Given the description of an element on the screen output the (x, y) to click on. 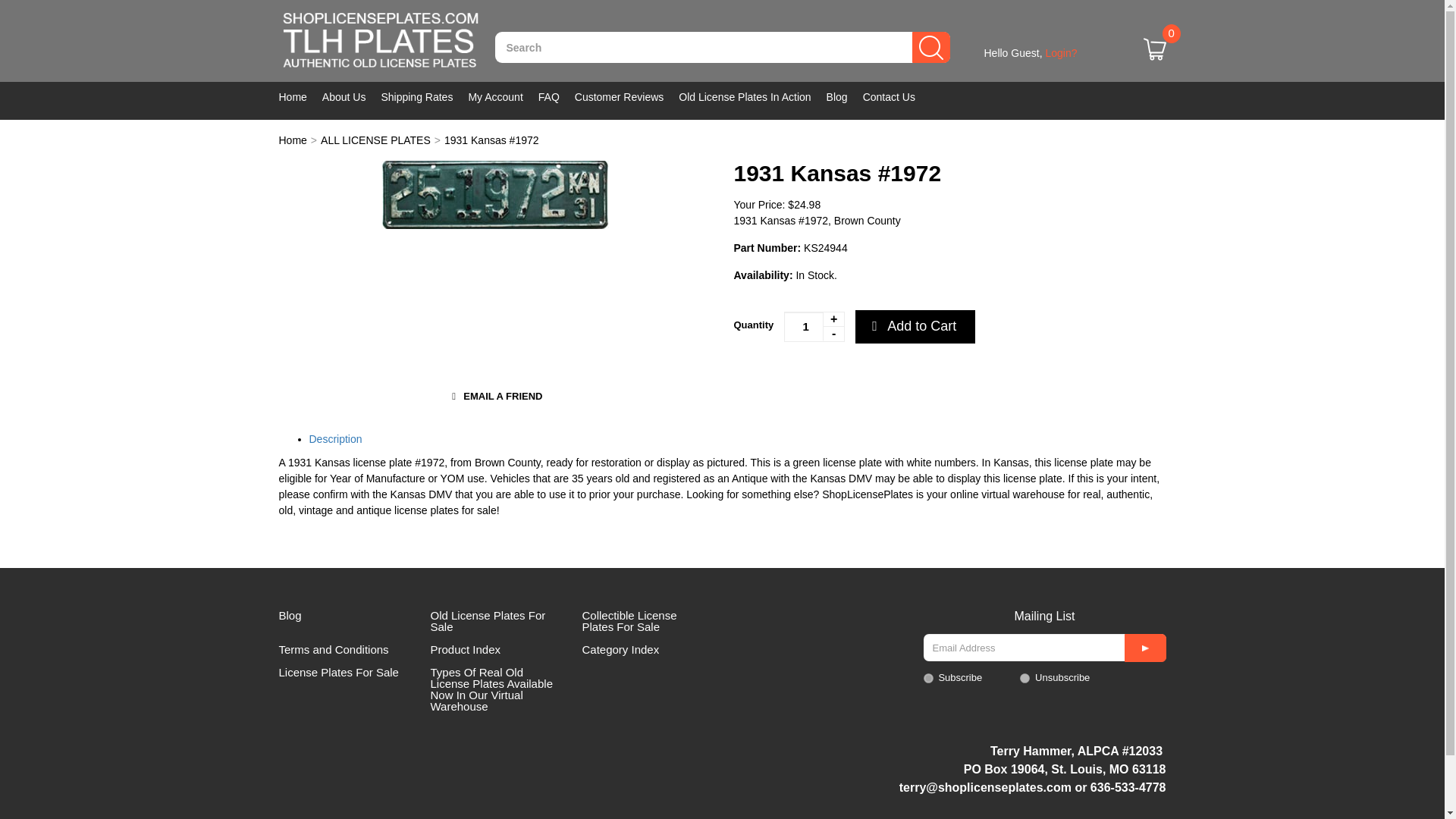
Customer Reviews (626, 97)
Blog (845, 97)
My Account (502, 97)
- (833, 333)
Login? (1061, 52)
Home (300, 97)
Add to Cart (915, 326)
Description (335, 439)
Home (293, 140)
Old License Plates In Action (751, 97)
EMAIL A FRIEND (494, 396)
Contact Us (896, 97)
1 (814, 327)
FAQ (556, 97)
About Us (351, 97)
